Given the description of an element on the screen output the (x, y) to click on. 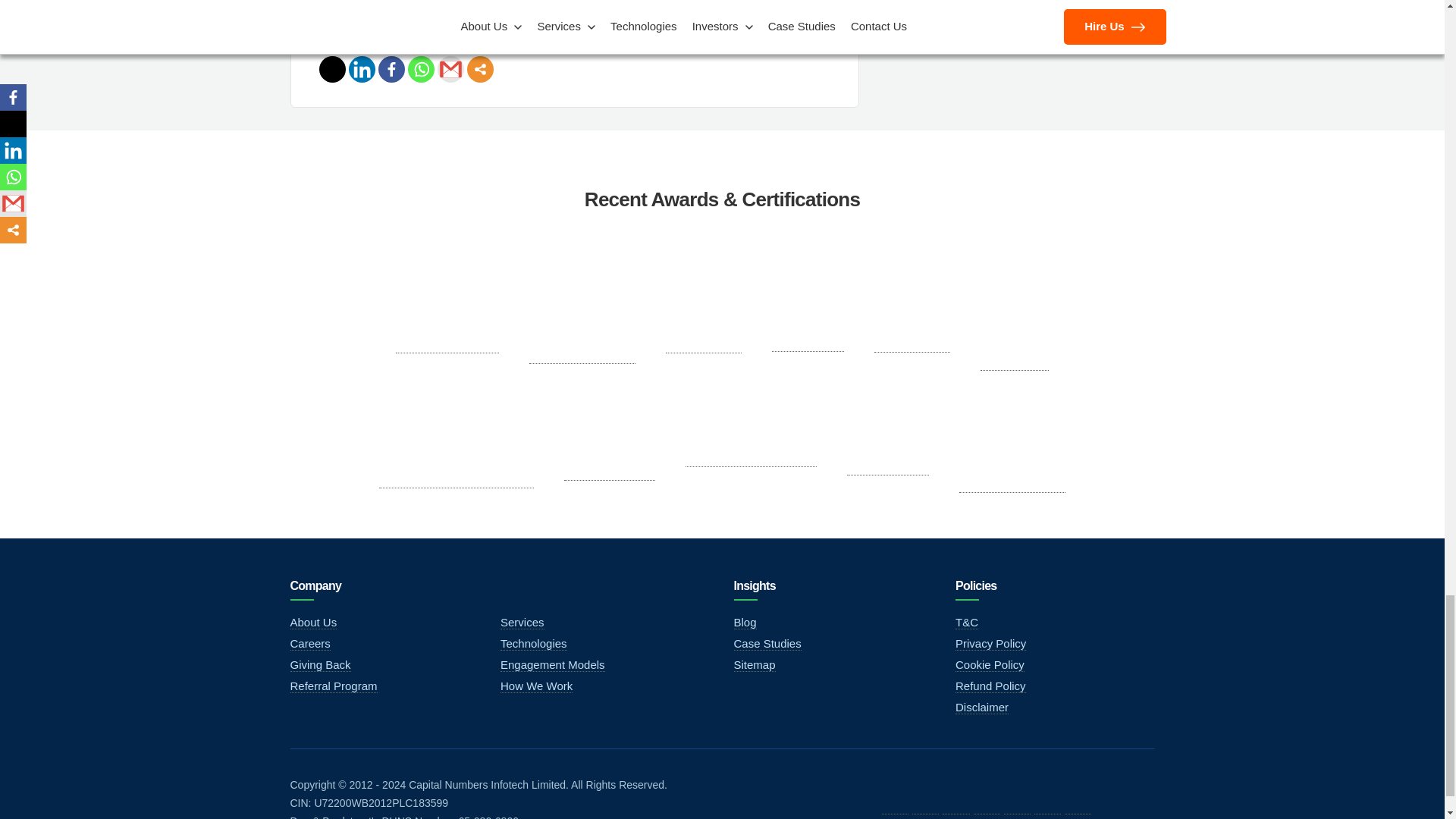
Facebook (390, 69)
Linkedin (362, 69)
Google Gmail (449, 69)
Twitter (331, 69)
Whatsapp (420, 69)
More (480, 69)
